Given the description of an element on the screen output the (x, y) to click on. 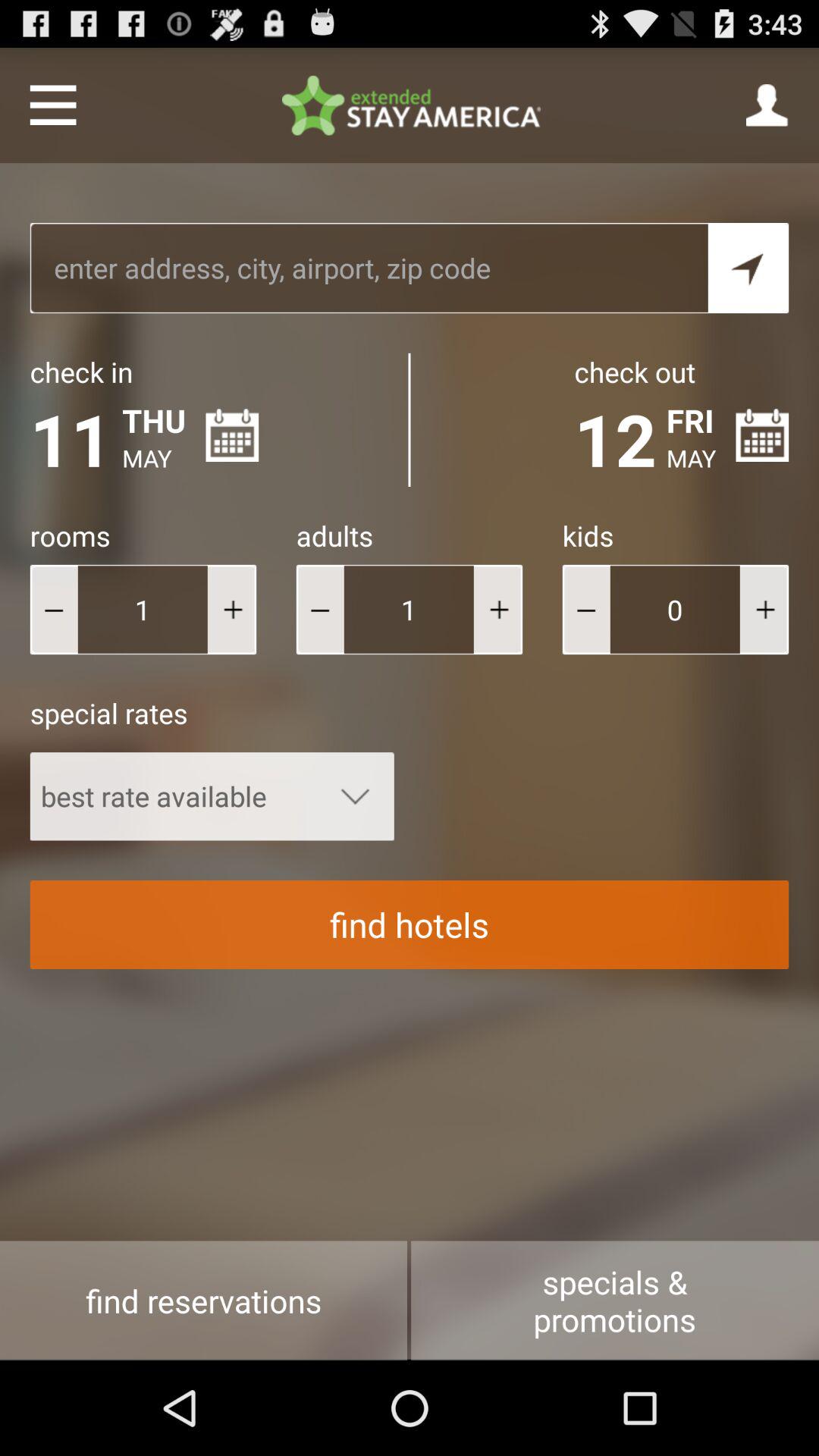
go to calendar (231, 434)
